Given the description of an element on the screen output the (x, y) to click on. 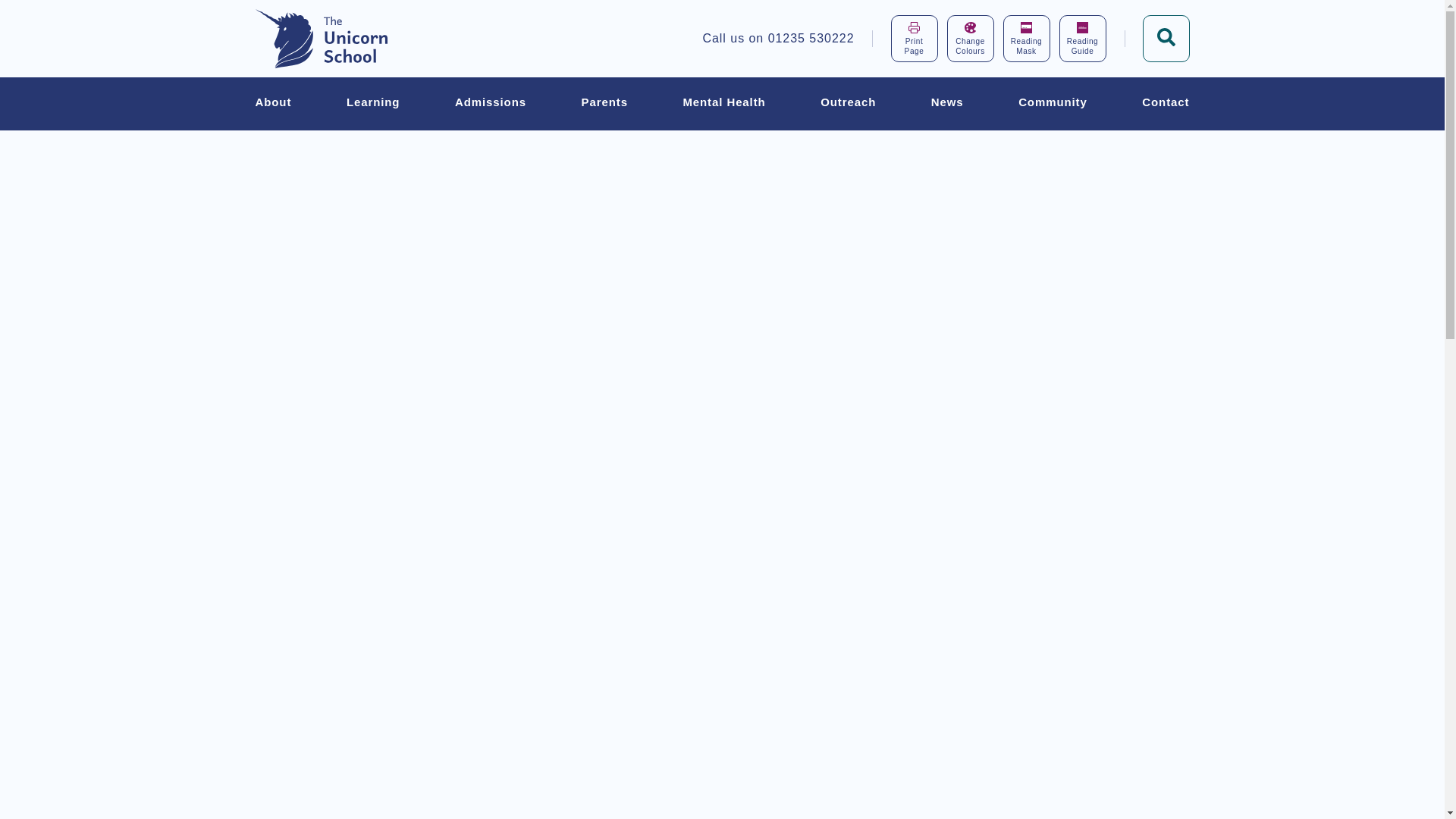
Skip to content (84, 19)
AAA (1082, 27)
Admissions (1081, 38)
Call us on 01235 530222 (489, 103)
Print Page (795, 38)
Change Colours (913, 38)
Learning (969, 38)
AAA (373, 103)
